Given the description of an element on the screen output the (x, y) to click on. 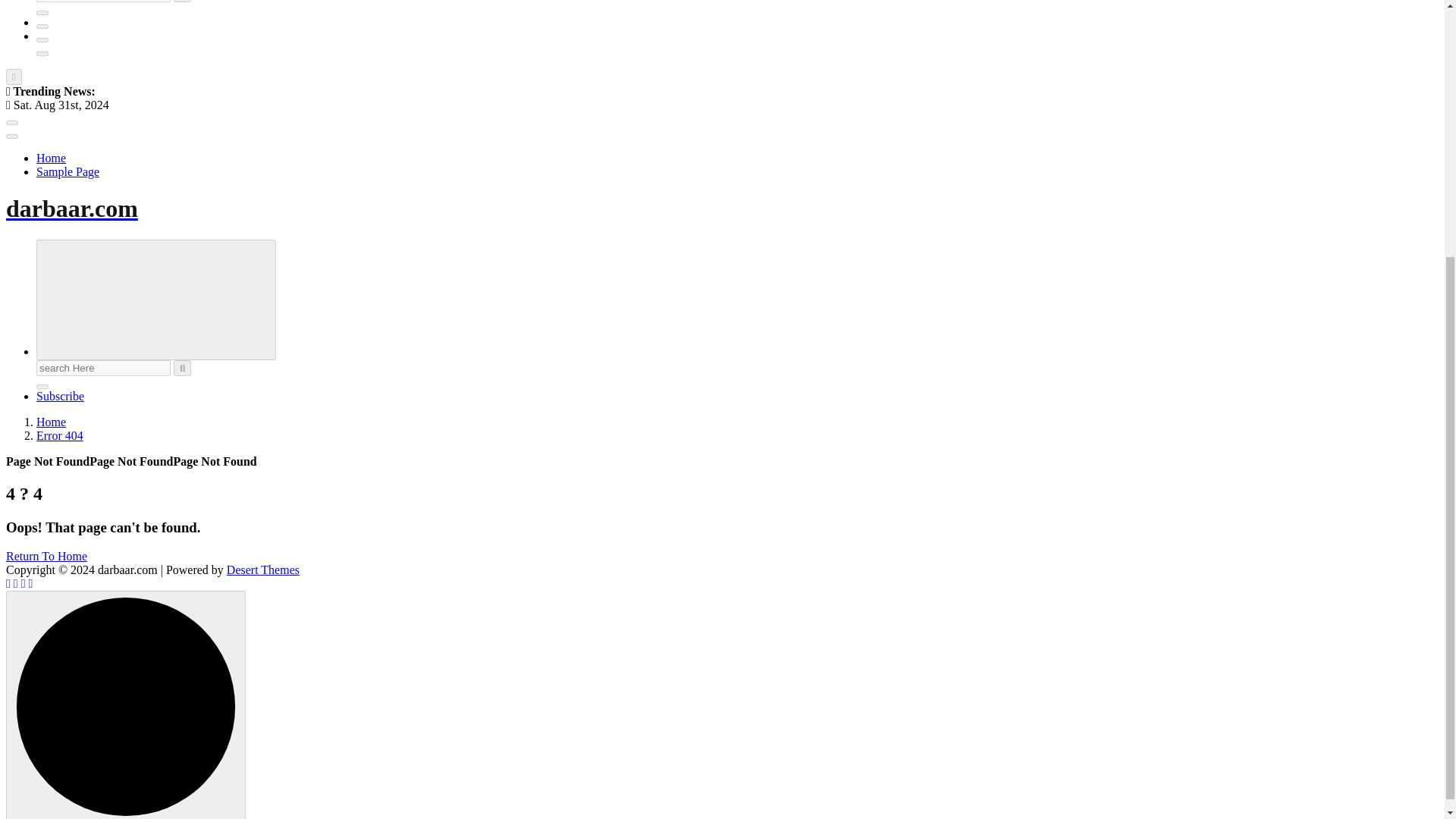
Desert Themes (263, 569)
Home (50, 157)
Home (50, 421)
Home (50, 157)
Subscribe (60, 395)
Error 404 (59, 435)
Return To Home (46, 555)
Sample Page (67, 171)
